Given the description of an element on the screen output the (x, y) to click on. 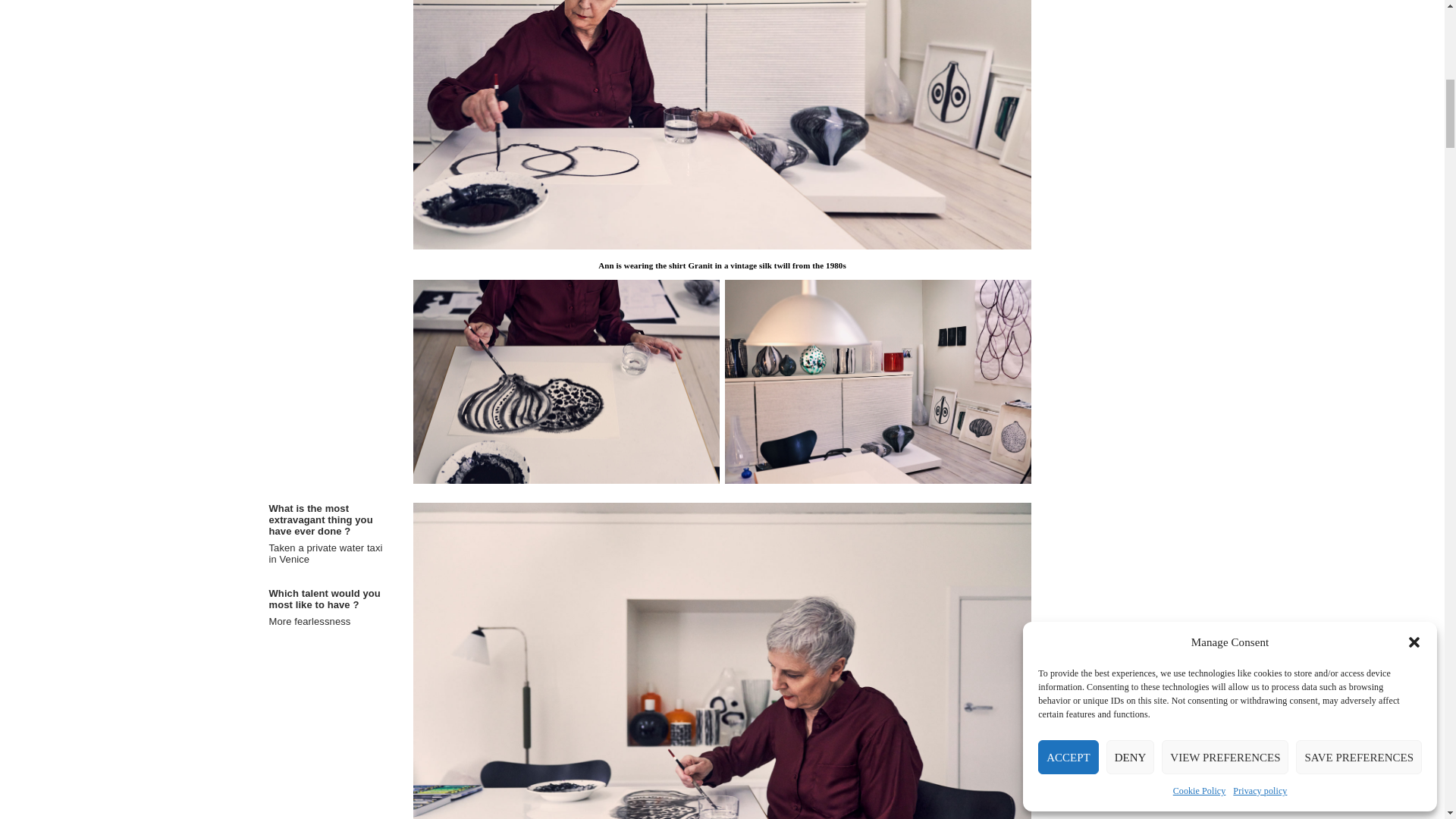
Ann W (878, 382)
Ann W (566, 382)
